Given the description of an element on the screen output the (x, y) to click on. 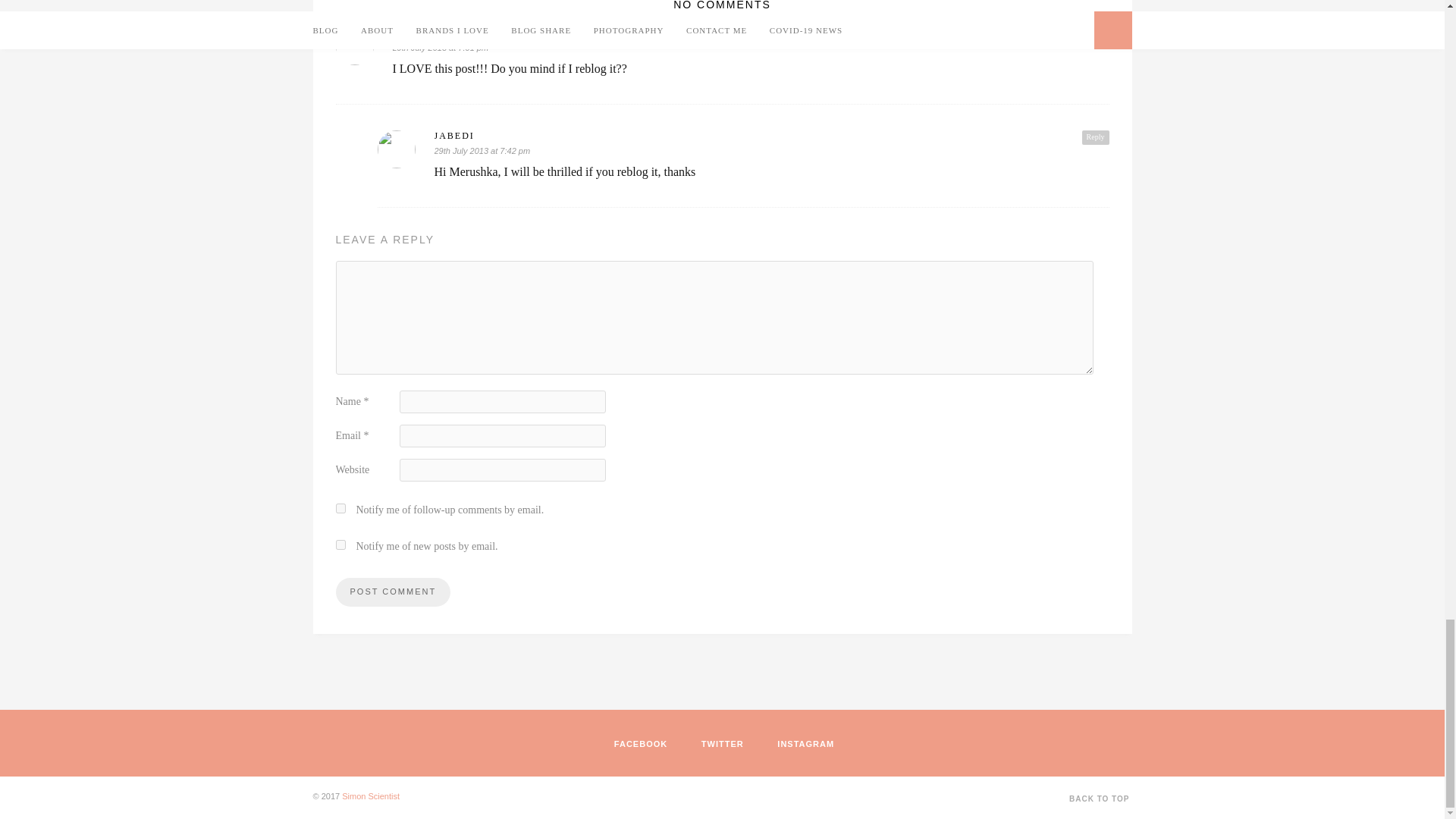
subscribe (339, 544)
Post Comment (391, 592)
subscribe (339, 508)
